Given the description of an element on the screen output the (x, y) to click on. 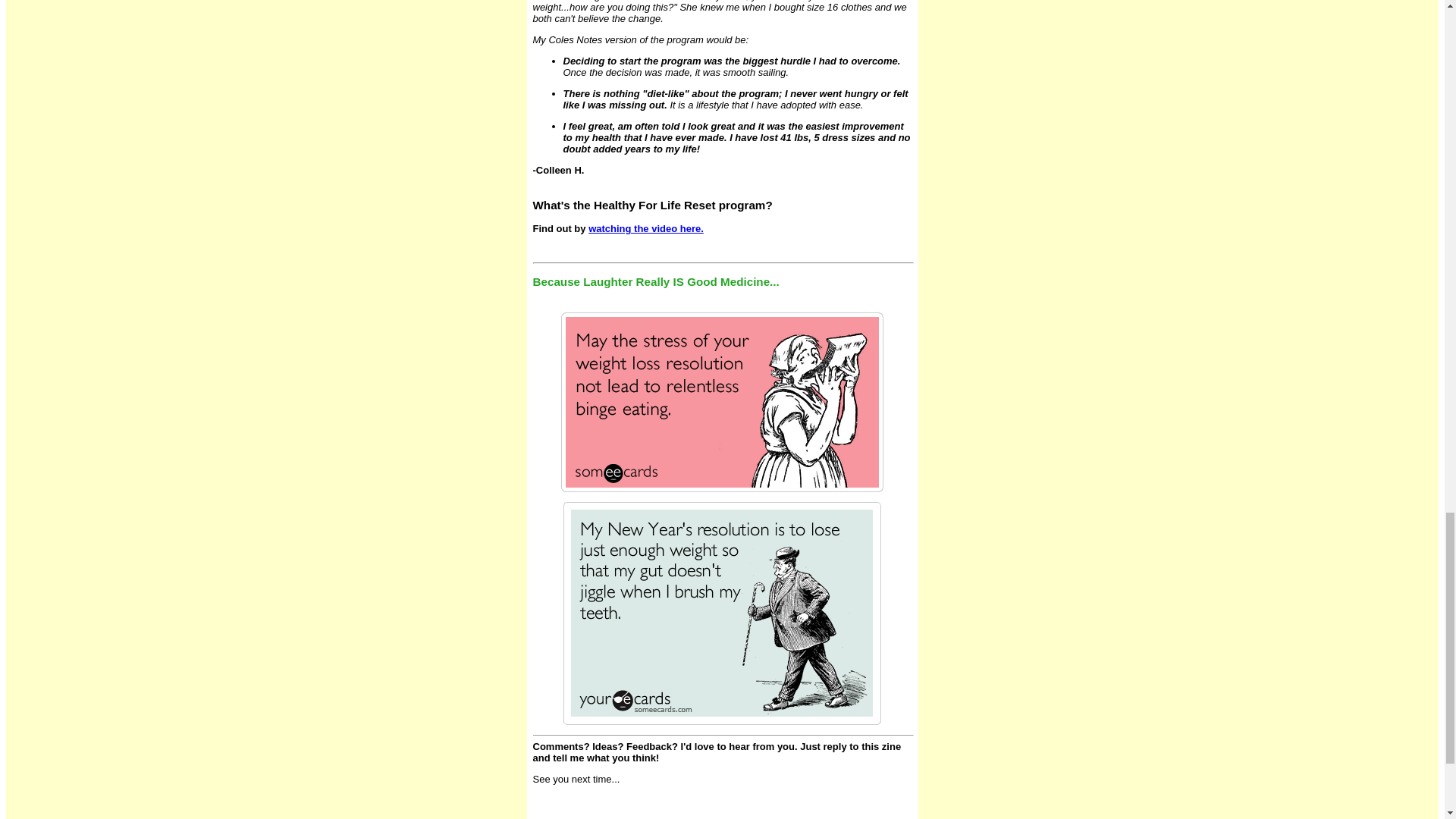
watching the video here. (645, 228)
